Given the description of an element on the screen output the (x, y) to click on. 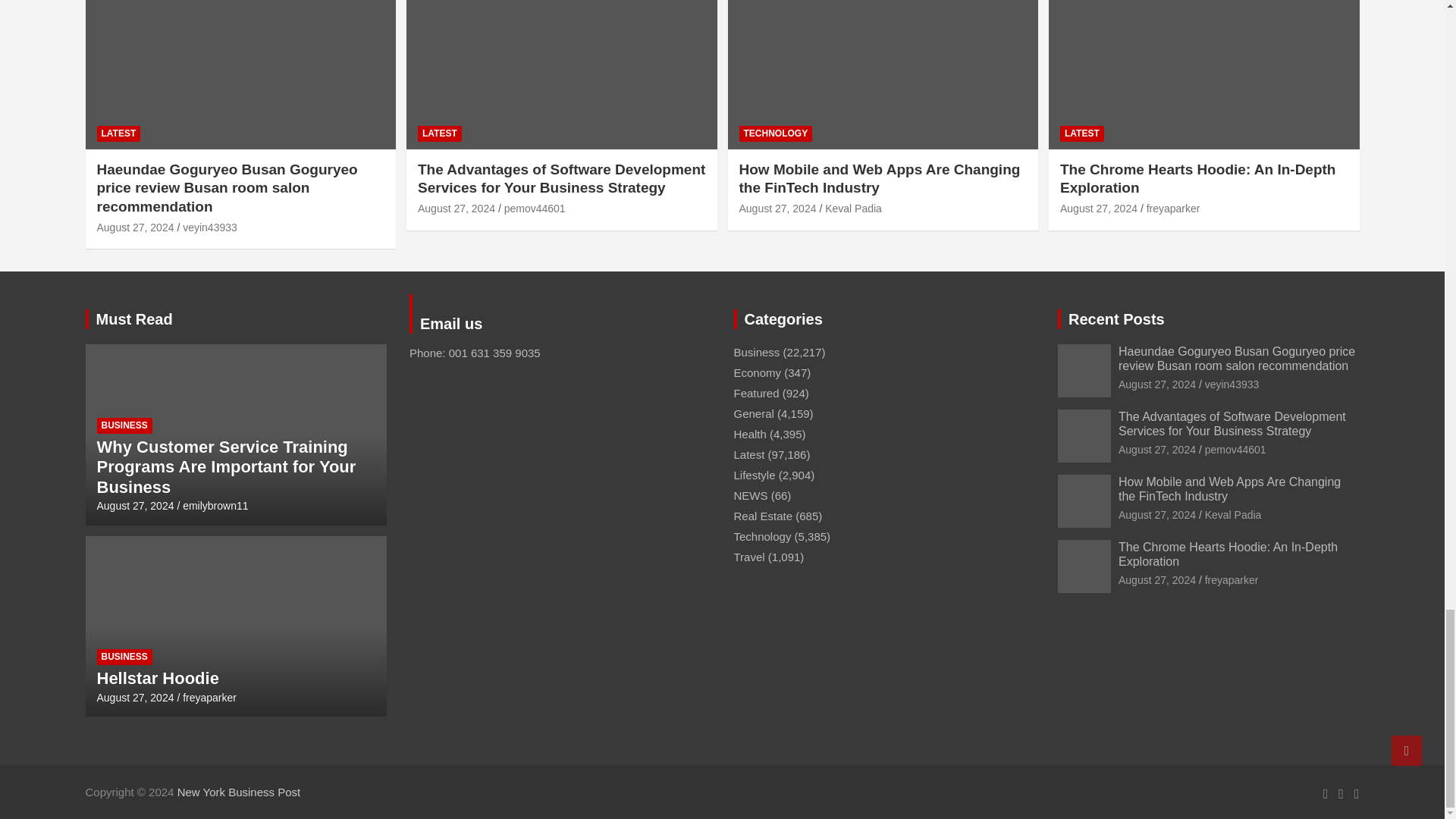
The Chrome Hearts Hoodie: An In-Depth Exploration (1098, 208)
How Mobile and Web Apps Are Changing the FinTech Industry (776, 208)
Hellstar Hoodie (135, 697)
